Given the description of an element on the screen output the (x, y) to click on. 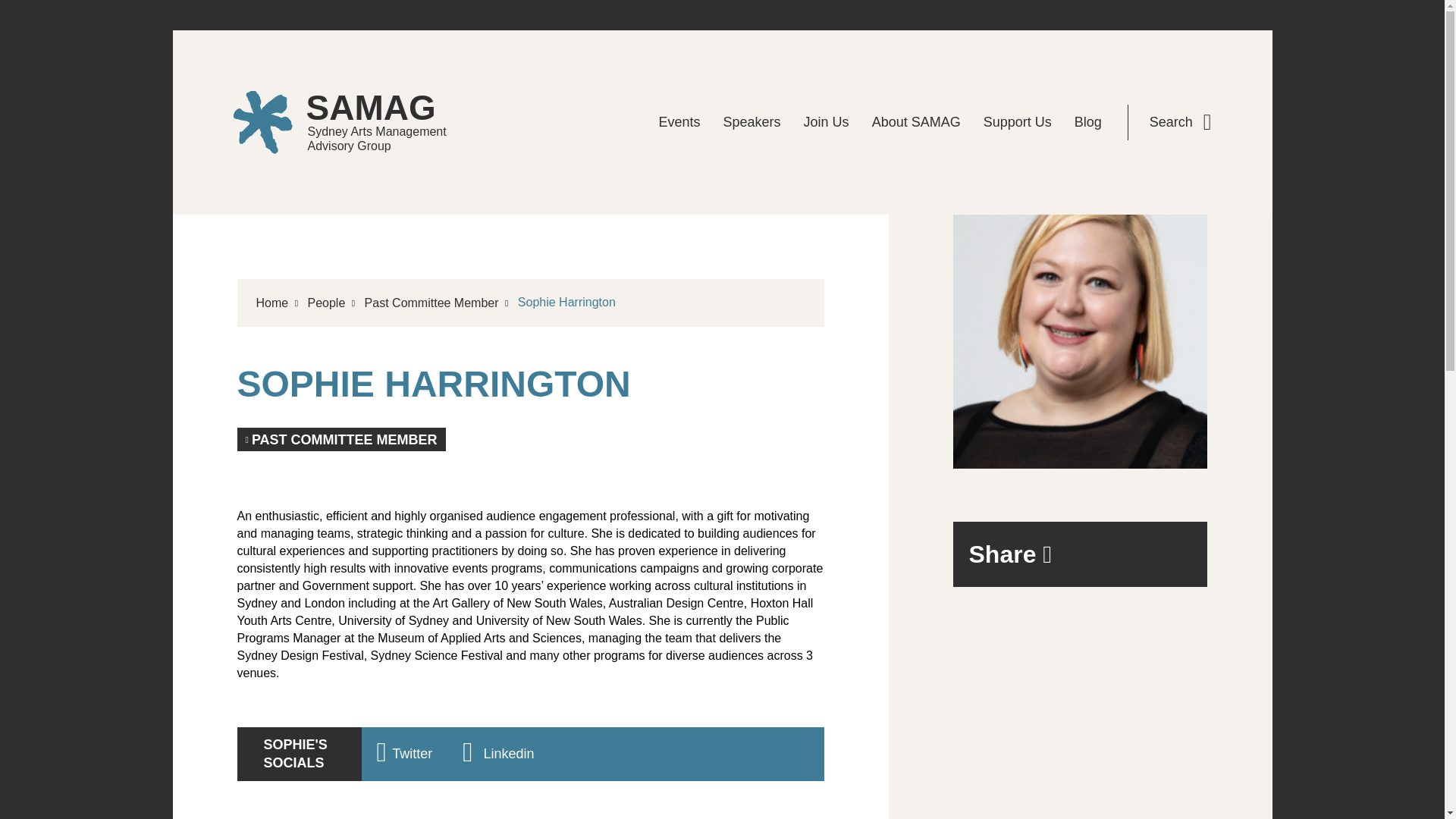
Twitter (403, 754)
About SAMAG (916, 122)
Join Us (825, 122)
People (326, 303)
PAST COMMITTEE MEMBER (354, 121)
Search (340, 439)
Support Us (1180, 122)
Speakers (1017, 122)
SAMAG (751, 122)
Past Committee Member (354, 121)
Events (432, 303)
Home (679, 122)
